Given the description of an element on the screen output the (x, y) to click on. 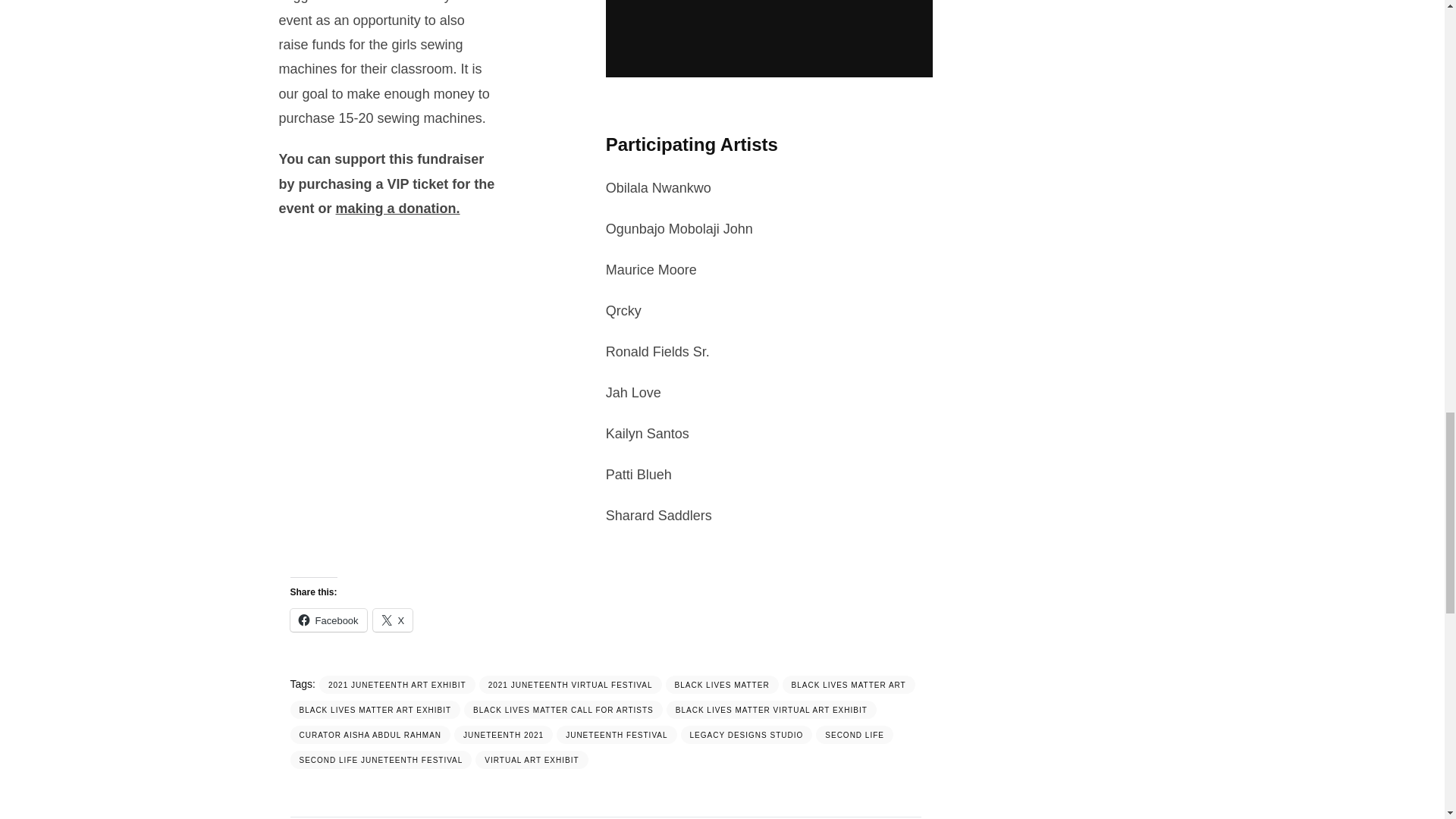
Facebook (327, 620)
Click to share on X (392, 620)
Click to share on Facebook (327, 620)
Juneteenth Festival Tour (769, 38)
